Given the description of an element on the screen output the (x, y) to click on. 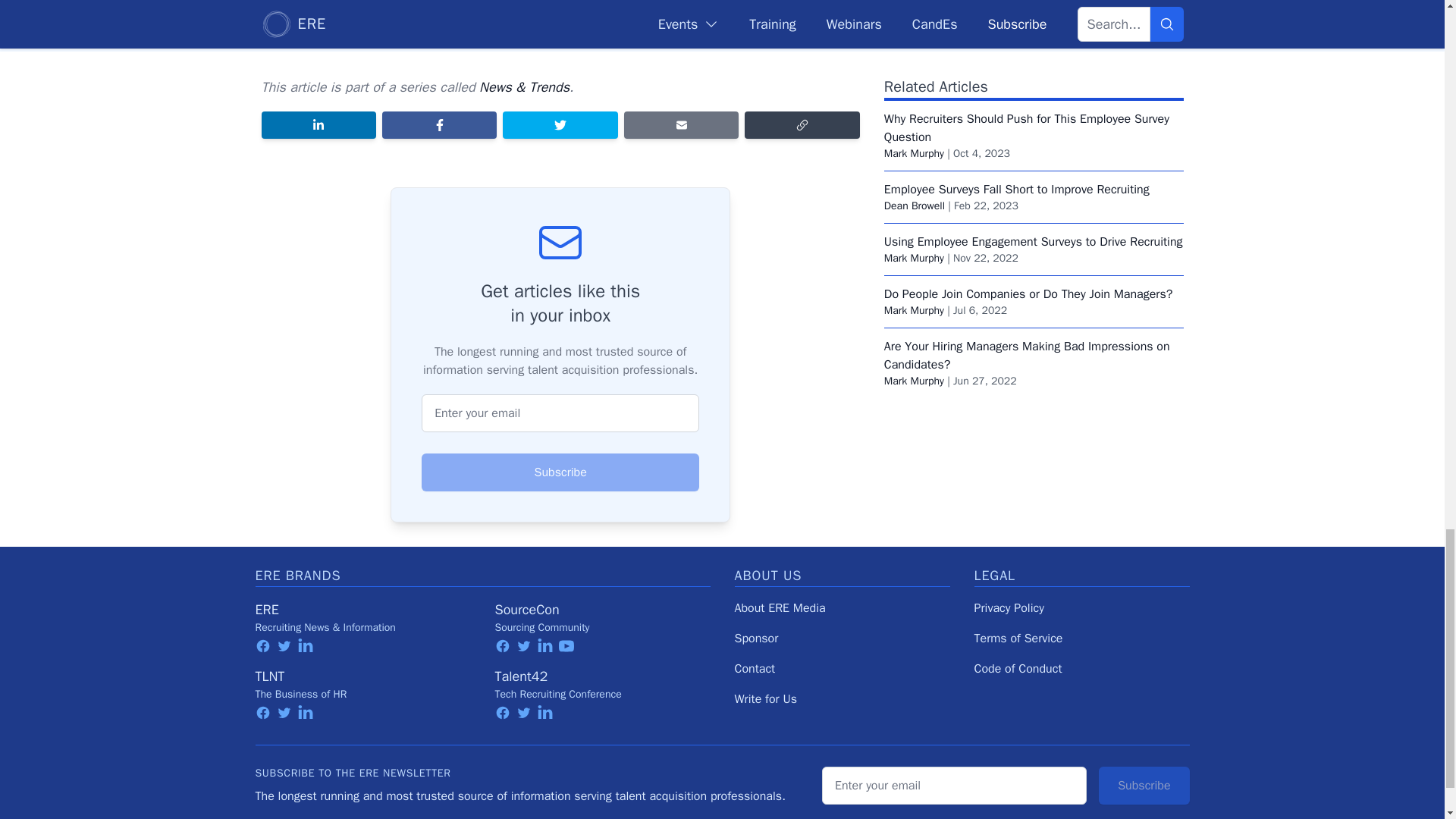
Why Recruiters Should Push for This Employee Survey Question (1026, 66)
Employee Surveys Fall Short to Improve Recruiting (1016, 128)
Mark Murphy (913, 248)
Subscribe (560, 472)
Mark Murphy (913, 196)
Mark Murphy (913, 92)
Dean Browell (913, 144)
Using Employee Engagement Surveys to Drive Recruiting (1032, 180)
Do People Join Companies or Do They Join Managers? (1028, 233)
